Given the description of an element on the screen output the (x, y) to click on. 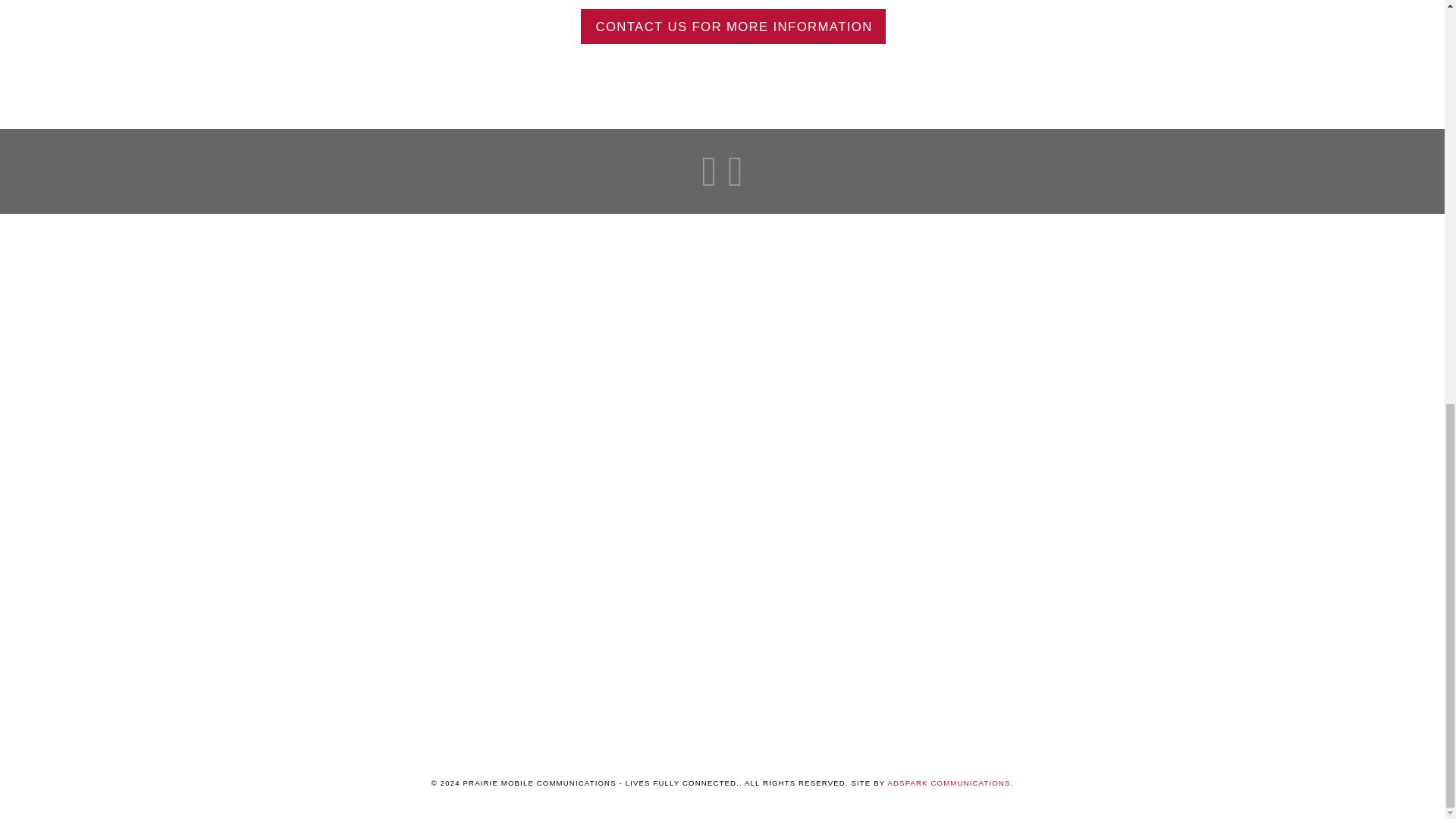
ADSPARK COMMUNICATIONS (948, 782)
